Given the description of an element on the screen output the (x, y) to click on. 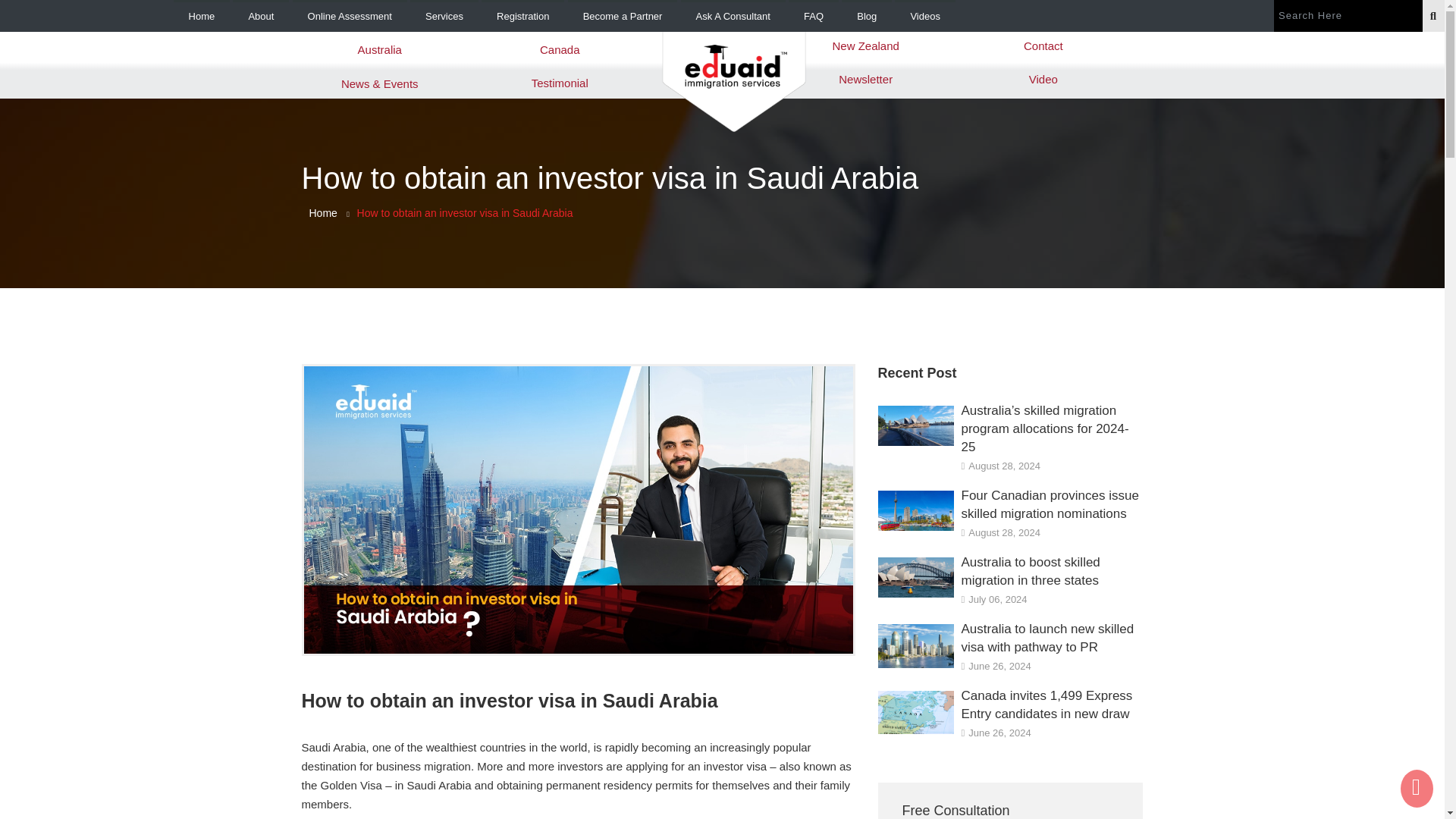
About (260, 16)
Australia (379, 47)
Ask A Consultant (732, 16)
Videos (925, 16)
Services (443, 16)
Australia (379, 47)
Become a Partner (623, 16)
Home (202, 16)
FAQ (813, 16)
Online Assessment (350, 16)
